Given the description of an element on the screen output the (x, y) to click on. 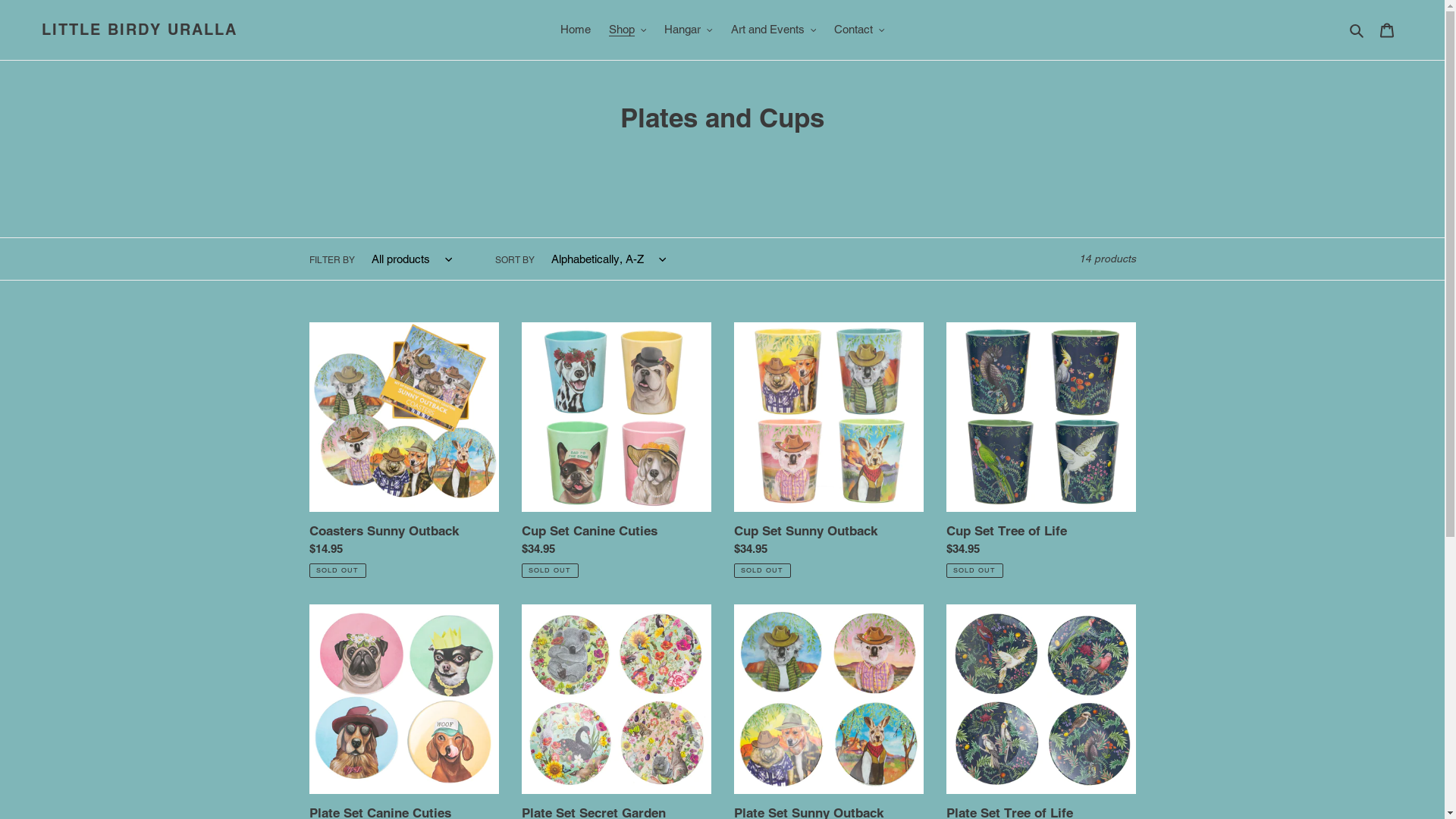
Hangar Element type: text (688, 29)
LITTLE BIRDY URALLA Element type: text (139, 29)
Cart Element type: text (1386, 29)
Cup Set Sunny Outback Element type: text (828, 449)
Search Element type: text (1357, 29)
Contact Element type: text (859, 29)
Art and Events Element type: text (773, 29)
Coasters Sunny Outback Element type: text (403, 449)
Shop Element type: text (626, 29)
Home Element type: text (574, 29)
Cup Set Tree of Life Element type: text (1040, 449)
Cup Set Canine Cuties Element type: text (616, 449)
